Given the description of an element on the screen output the (x, y) to click on. 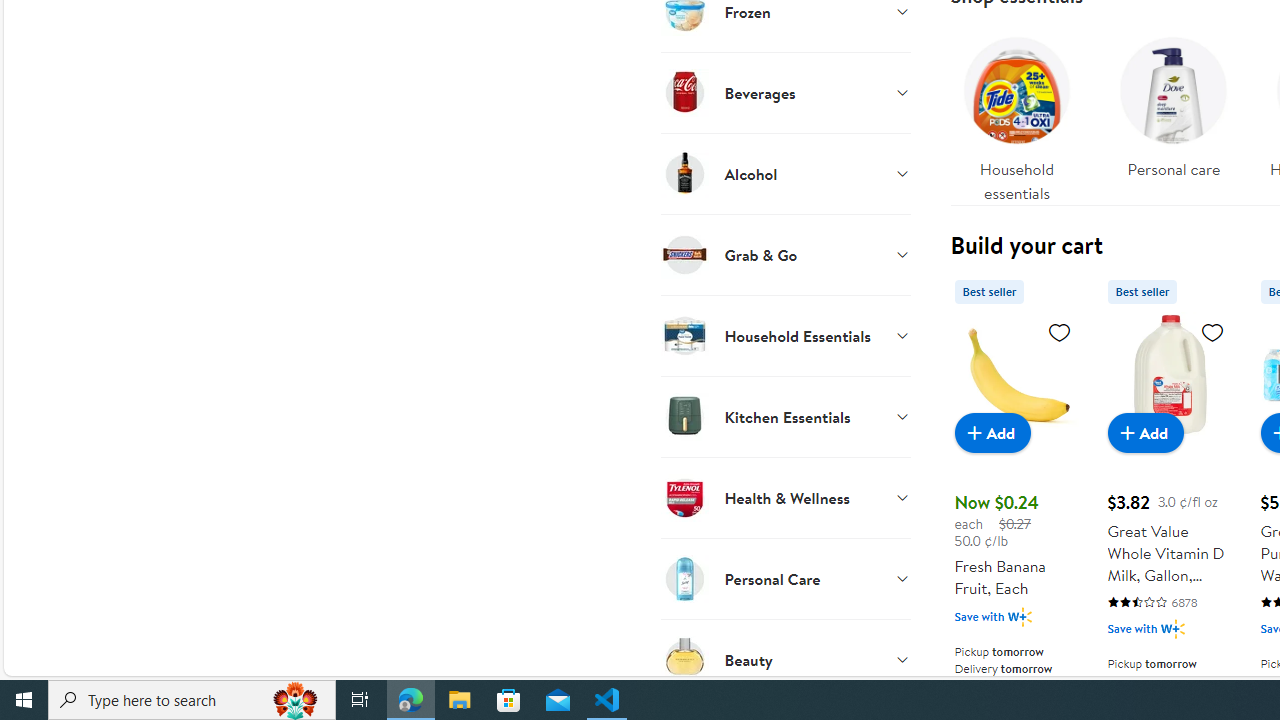
Add to cart - Fresh Banana Fruit, Each (992, 431)
Personal care (1174, 101)
Fresh Banana Fruit, Each (1016, 374)
Personal Care (785, 578)
Walmart Plus (1172, 628)
